Given the description of an element on the screen output the (x, y) to click on. 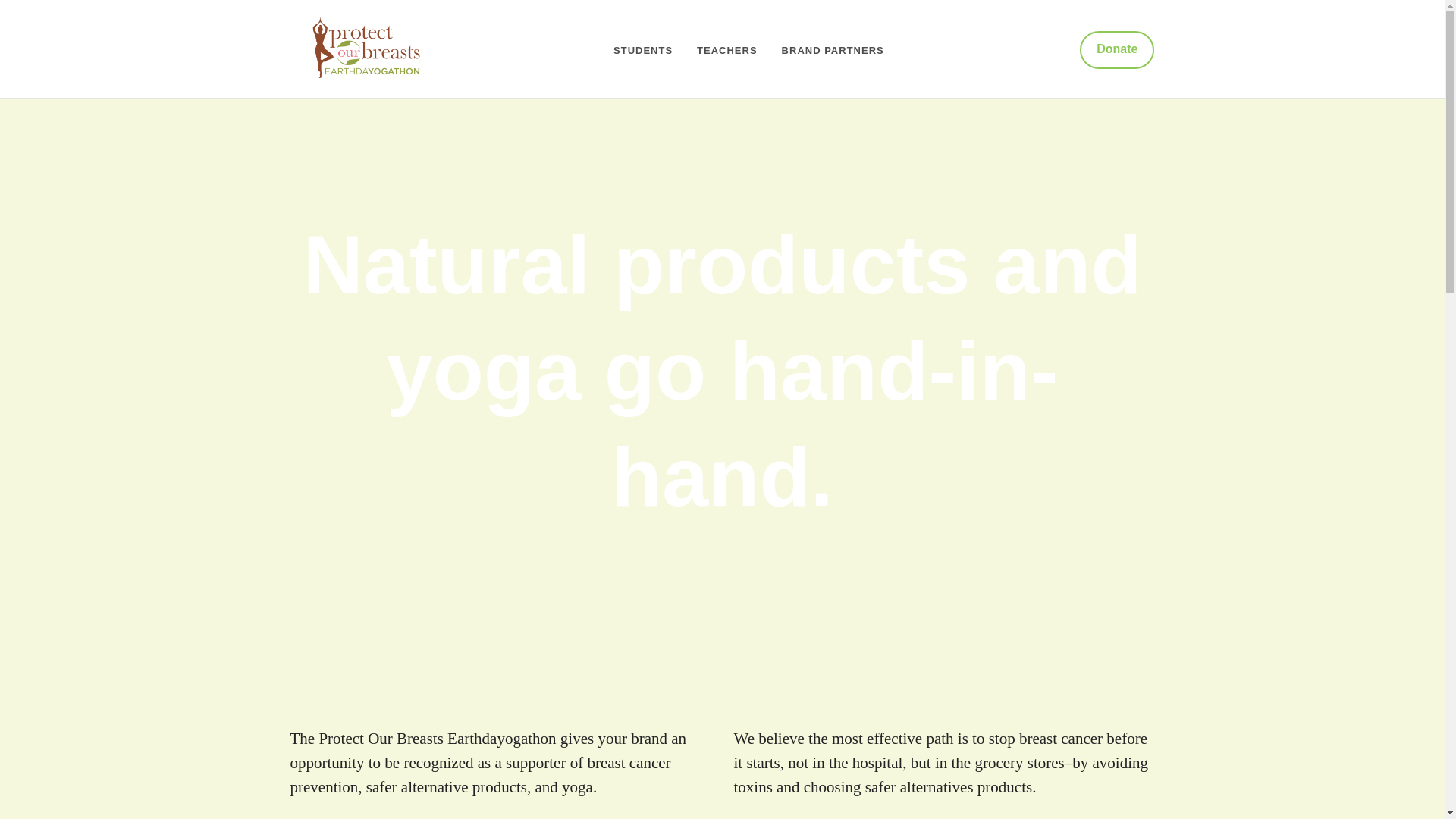
TEACHERS (727, 51)
Brand Partners (832, 51)
STUDENTS (642, 51)
Teachers (727, 51)
Students (642, 51)
BRAND PARTNERS (832, 51)
Donate (1117, 49)
